Given the description of an element on the screen output the (x, y) to click on. 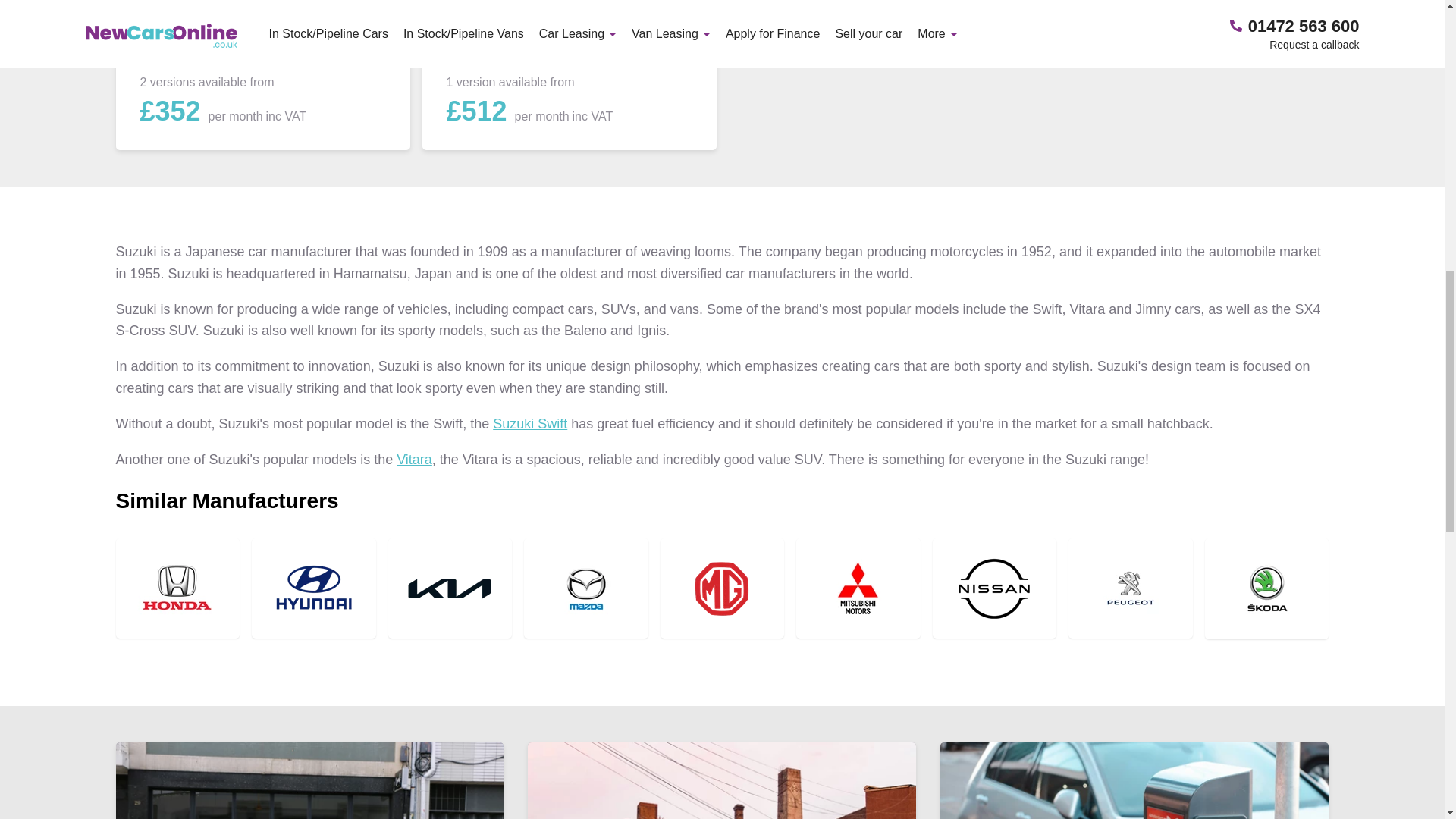
Skoda (1267, 588)
Hyundai (313, 588)
Mazda (585, 588)
Mitsubishi (858, 588)
Kia (450, 588)
Nissan (995, 588)
Peugeot (1130, 588)
MG Motor UK (722, 588)
Honda (177, 588)
